Given the description of an element on the screen output the (x, y) to click on. 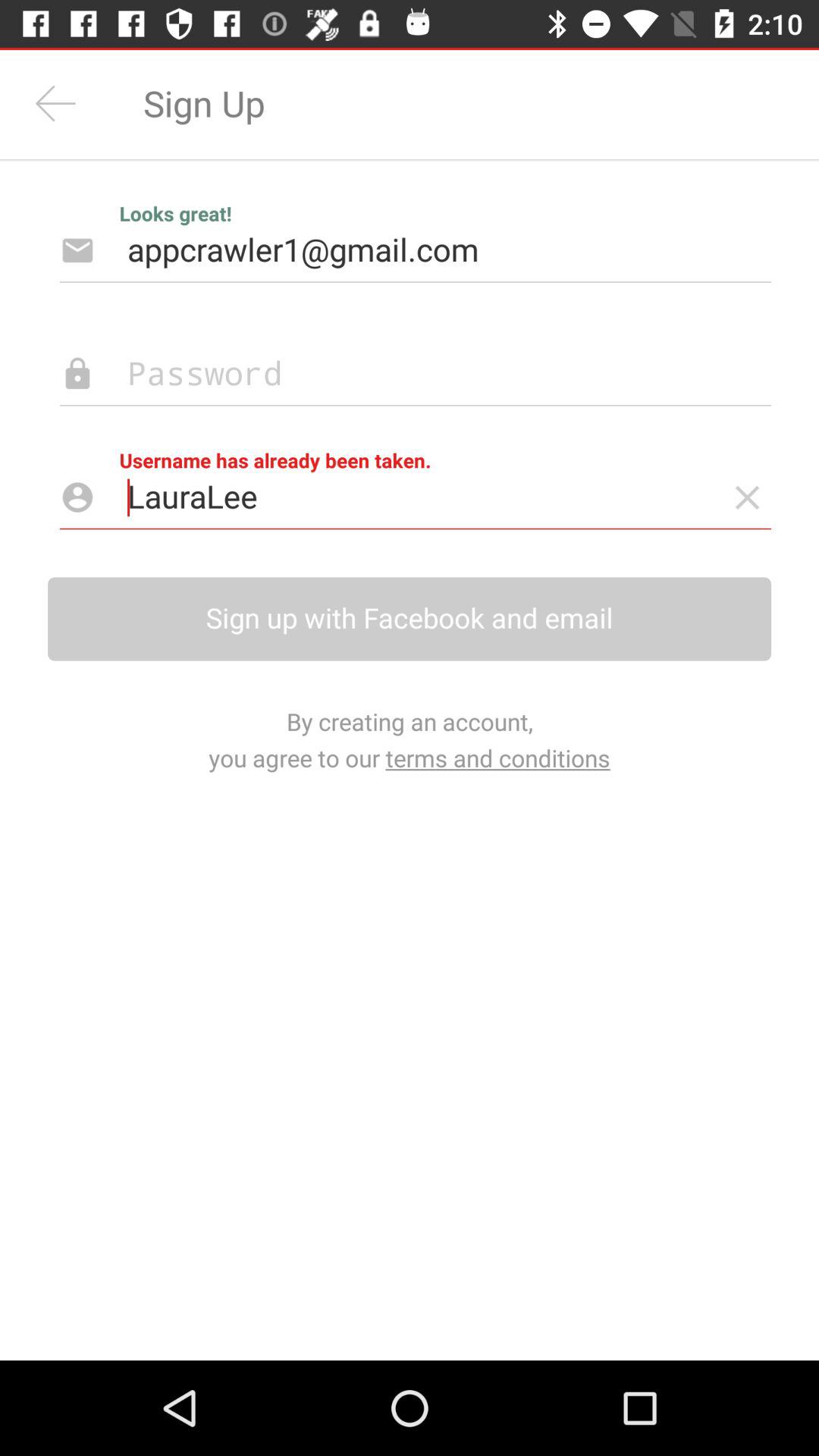
text box (391, 374)
